Given the description of an element on the screen output the (x, y) to click on. 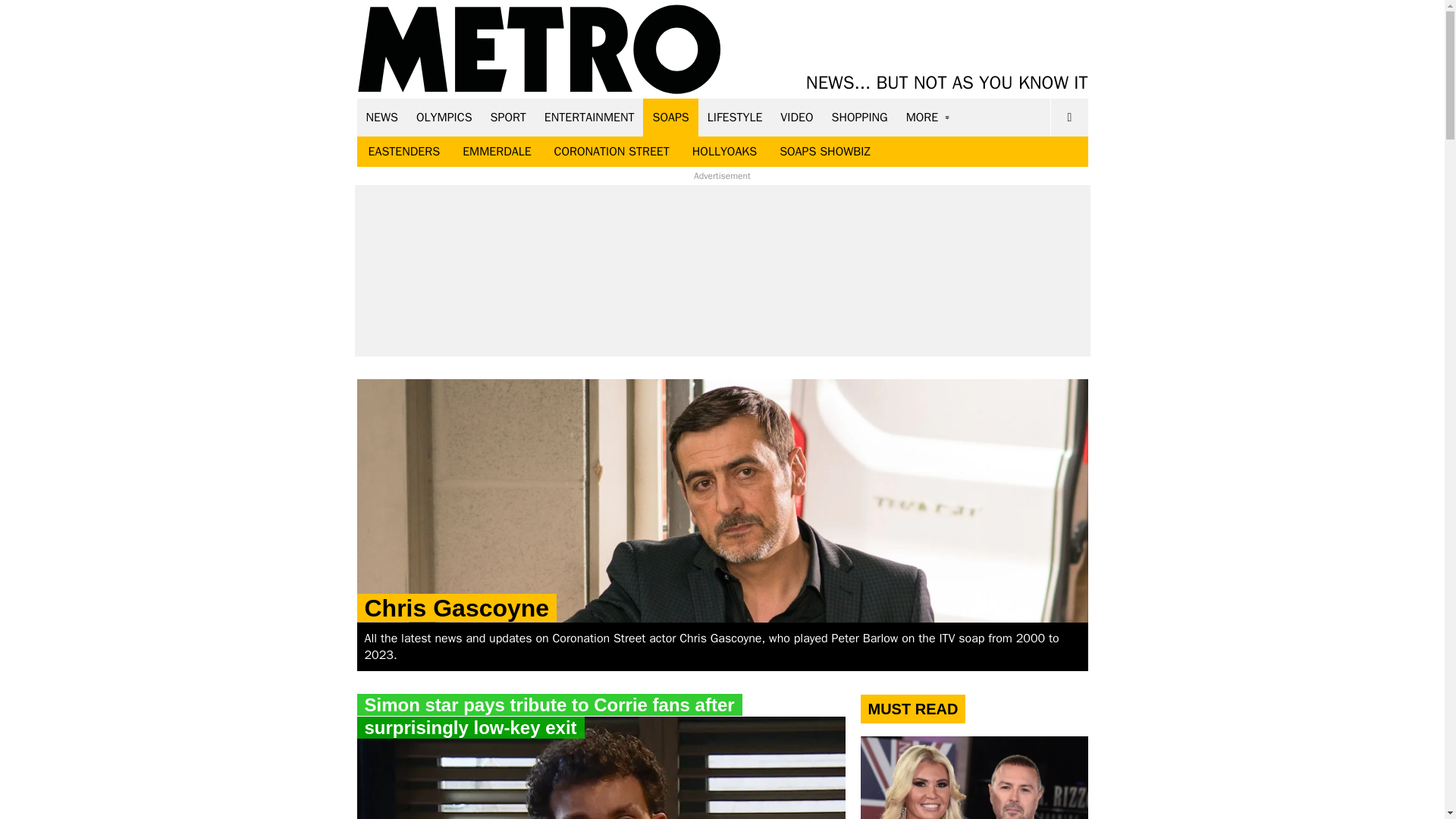
Metro (539, 50)
EASTENDERS (403, 151)
OLYMPICS (444, 117)
SOAPS (670, 117)
LIFESTYLE (734, 117)
HOLLYOAKS (724, 151)
EMMERDALE (496, 151)
NEWS (381, 117)
ENTERTAINMENT (589, 117)
SOAPS SHOWBIZ (825, 151)
CORONATION STREET (612, 151)
SPORT (508, 117)
